Given the description of an element on the screen output the (x, y) to click on. 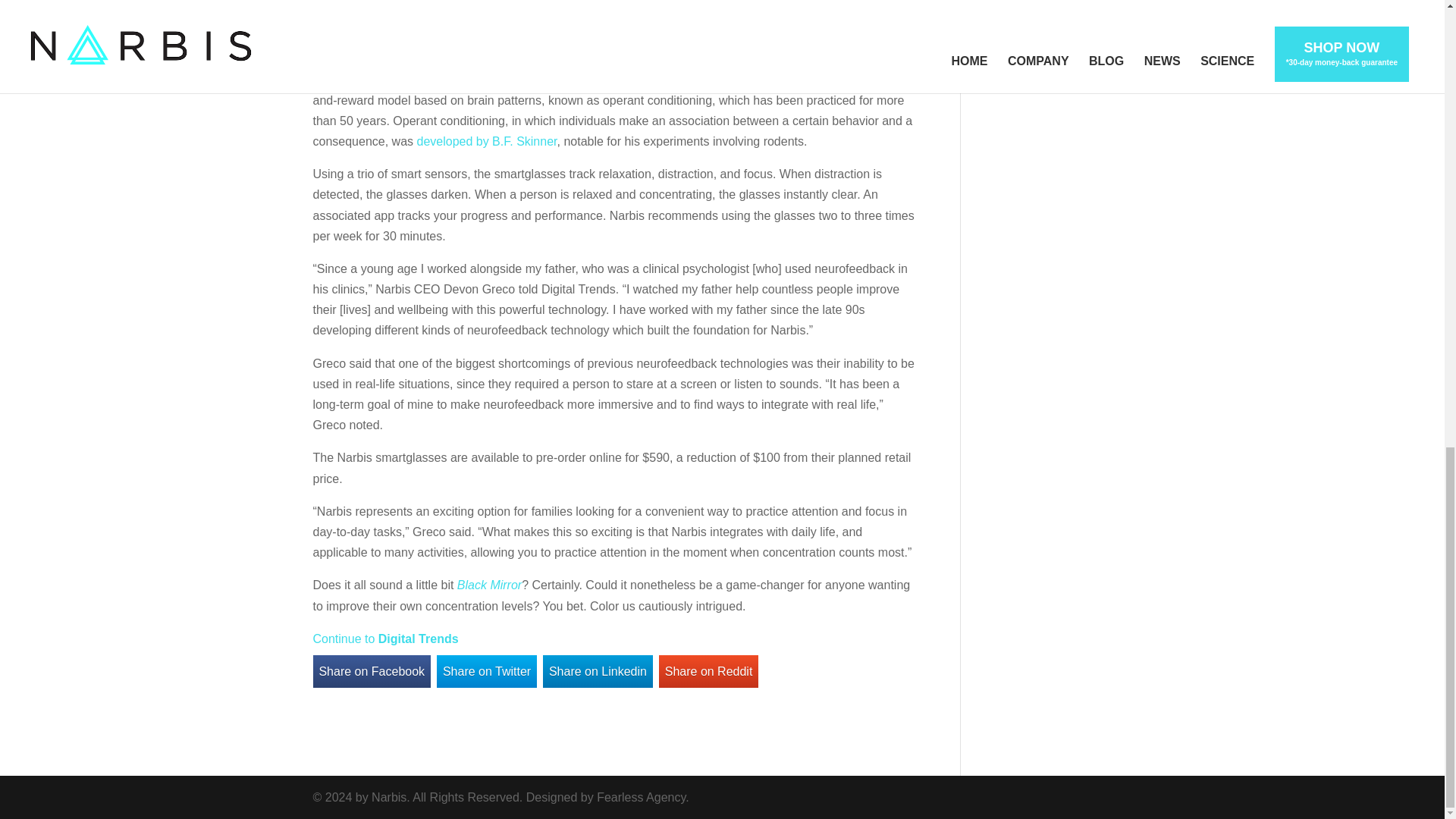
Share on Linkedin (597, 671)
Share on Reddit (708, 671)
Continue to (345, 638)
Digital Trends (418, 638)
developed by B.F. Skinner (486, 141)
Share on Twitter (486, 671)
Share on Facebook (371, 671)
Black Mirror (489, 584)
